Given the description of an element on the screen output the (x, y) to click on. 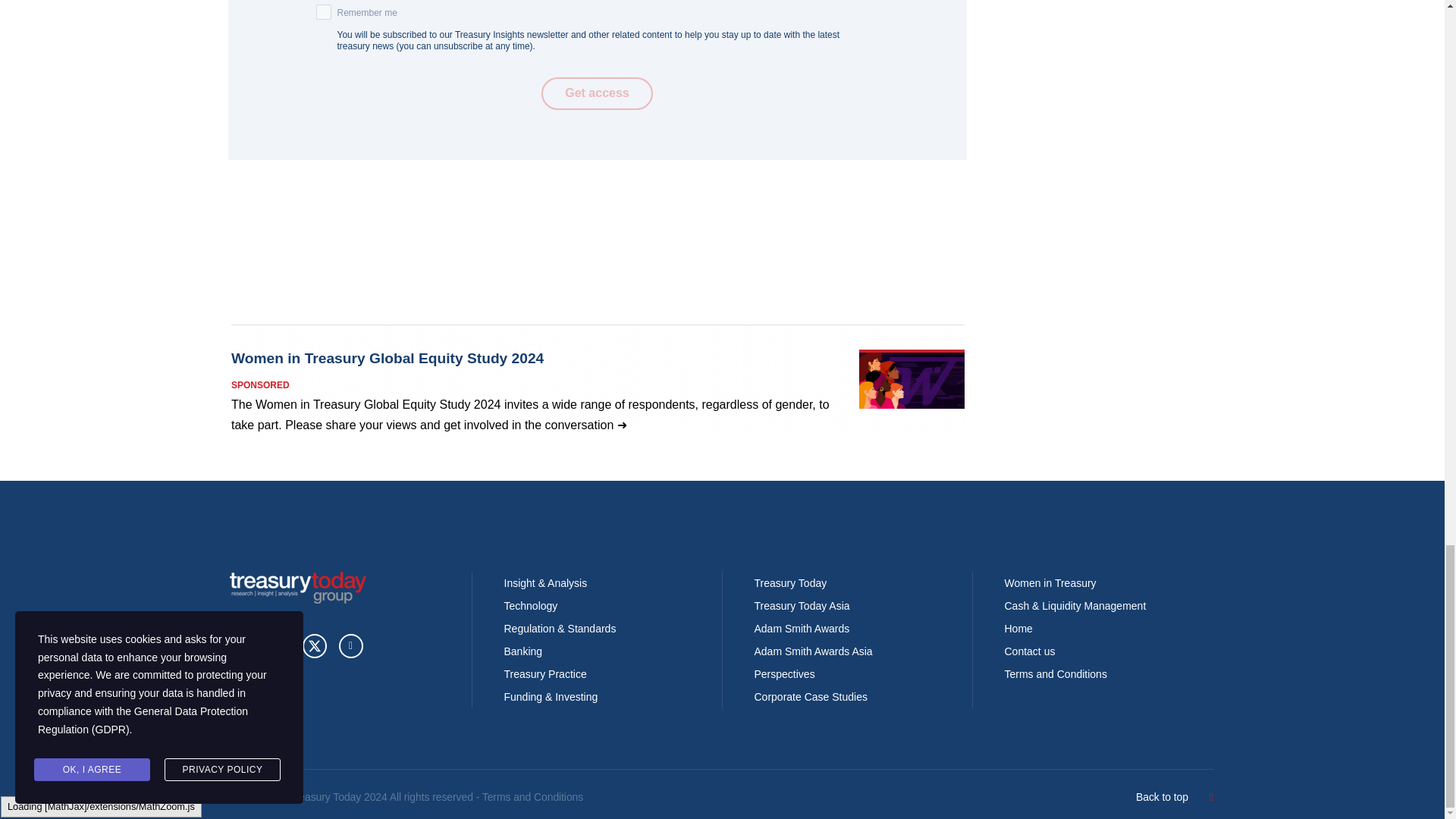
3rd party ad content (596, 381)
on (322, 11)
